Given the description of an element on the screen output the (x, y) to click on. 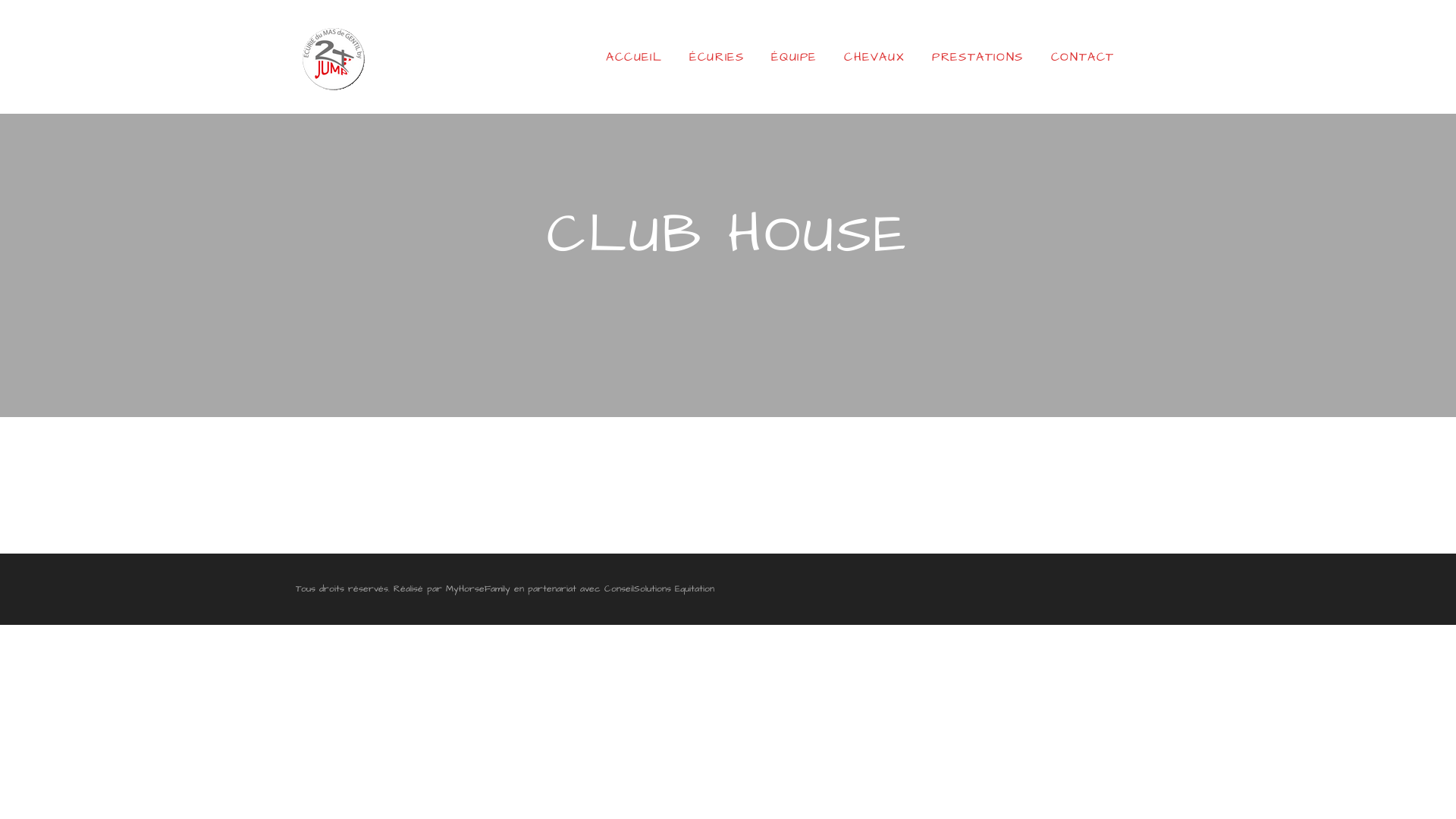
CONTACT Element type: text (1082, 56)
ConseilSolutions Equitation Element type: text (659, 588)
ACCUEIL Element type: text (633, 56)
PRESTATIONS Element type: text (977, 56)
CHEVAUX Element type: text (874, 56)
MyHorseFamily Element type: text (477, 588)
